Given the description of an element on the screen output the (x, y) to click on. 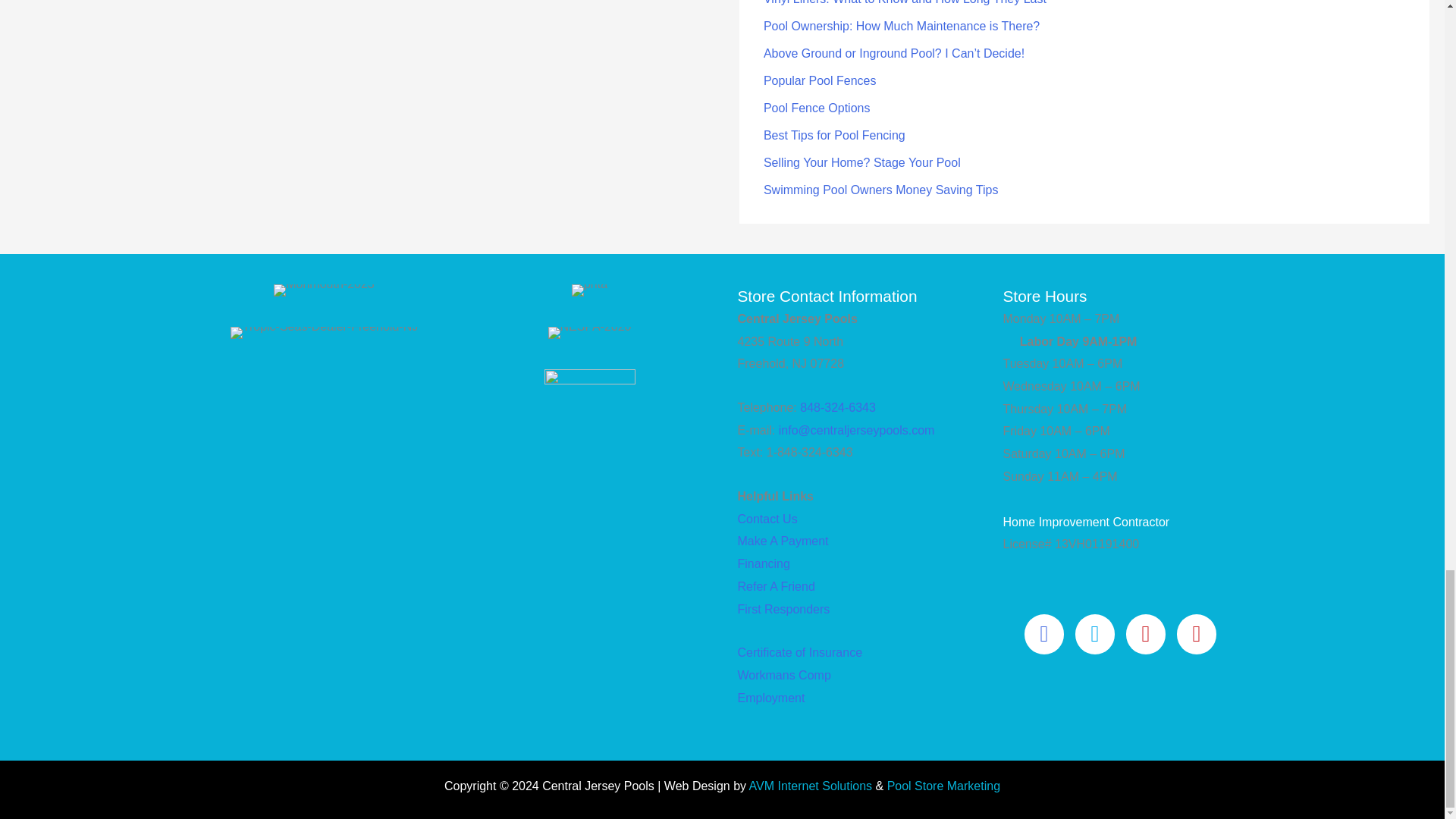
Monmouth-2023 (323, 290)
phta (589, 290)
Visit our contact us page (766, 518)
Click here for directions (782, 540)
NESPA-2020 (588, 332)
Tropic-Seas-Dealer-Freehold-NJ (323, 332)
Click here for our phone directory (762, 563)
